Given the description of an element on the screen output the (x, y) to click on. 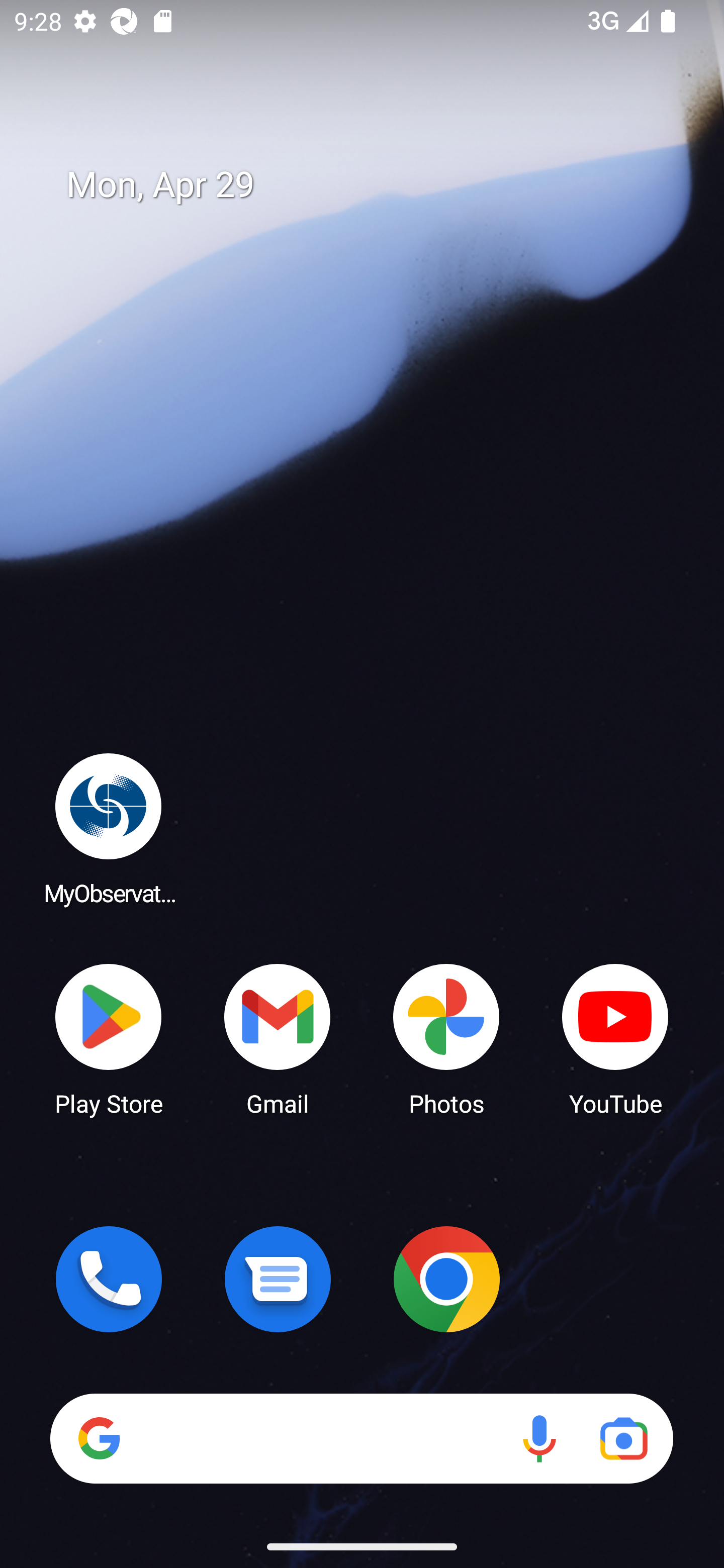
Mon, Apr 29 (375, 184)
MyObservatory (108, 828)
Play Store (108, 1038)
Gmail (277, 1038)
Photos (445, 1038)
YouTube (615, 1038)
Phone (108, 1279)
Messages (277, 1279)
Chrome (446, 1279)
Voice search (539, 1438)
Google Lens (623, 1438)
